Given the description of an element on the screen output the (x, y) to click on. 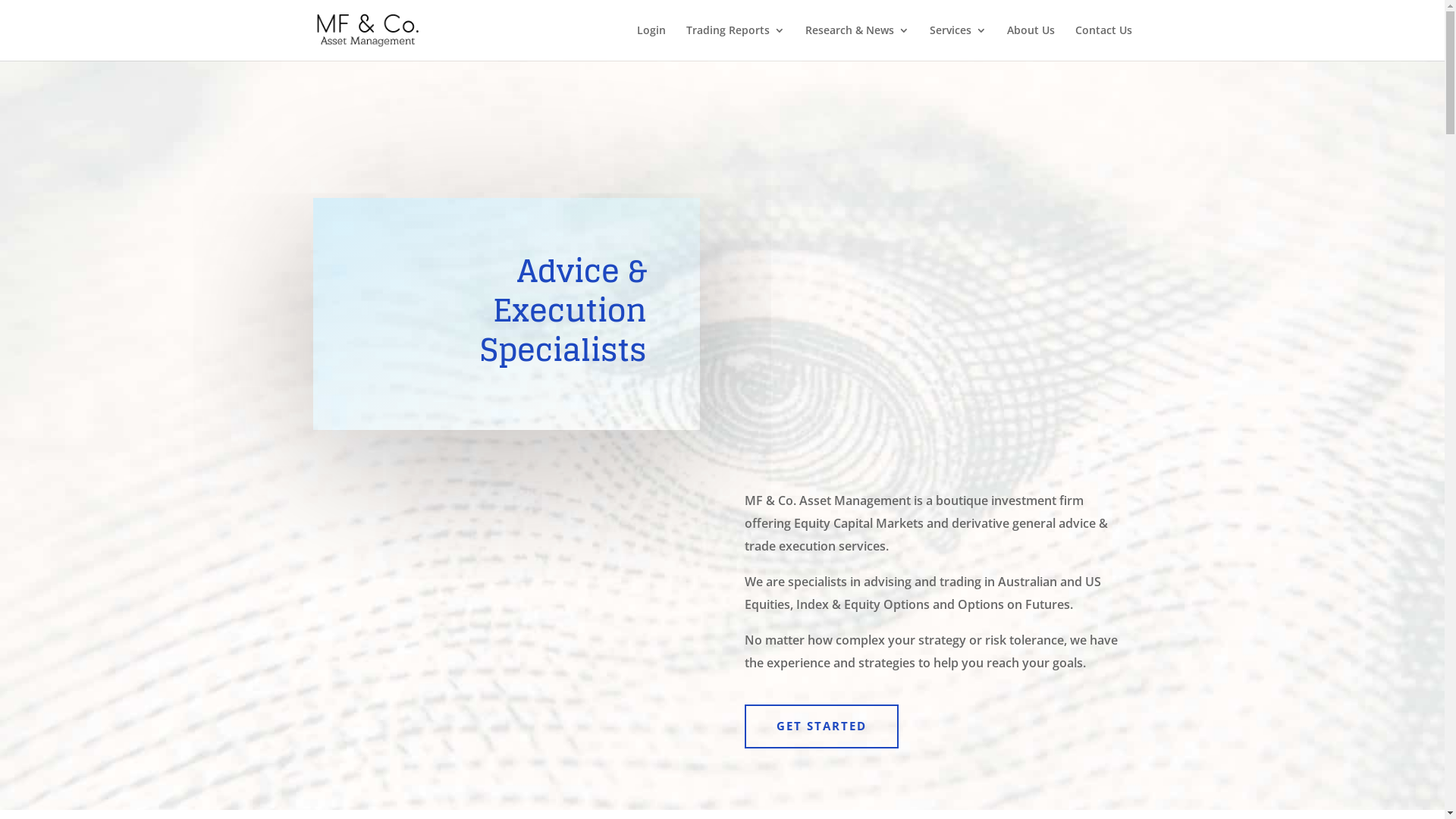
Contact Us Element type: text (1103, 42)
GET STARTED Element type: text (821, 726)
Trading Reports Element type: text (734, 42)
About Us Element type: text (1030, 42)
Services Element type: text (957, 42)
Login Element type: text (651, 42)
Research & News Element type: text (857, 42)
